Given the description of an element on the screen output the (x, y) to click on. 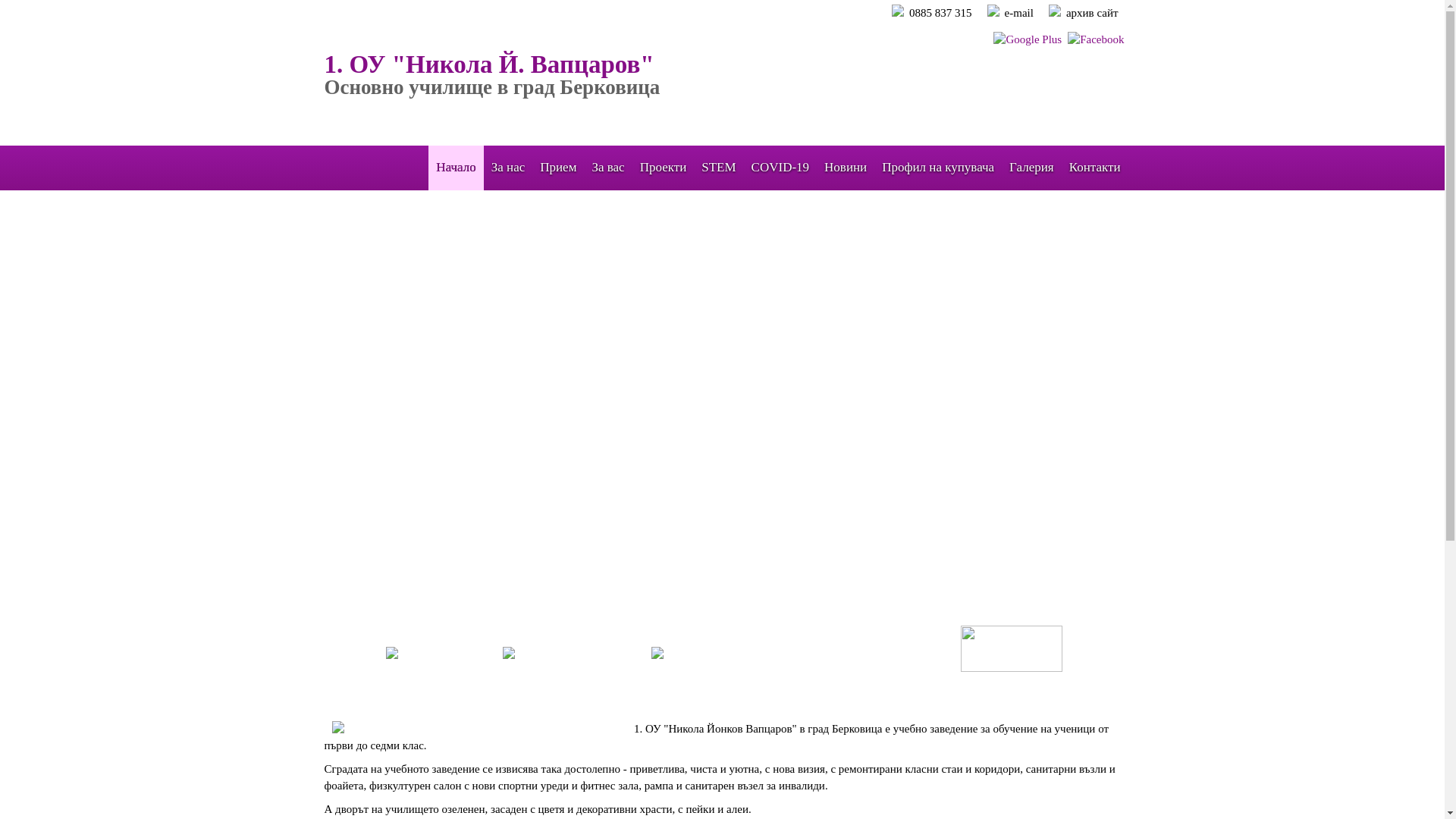
STEM Element type: text (718, 167)
COVID-19 Element type: text (780, 167)
e-mail Element type: text (1018, 12)
0885 837 315 Element type: text (940, 12)
